Given the description of an element on the screen output the (x, y) to click on. 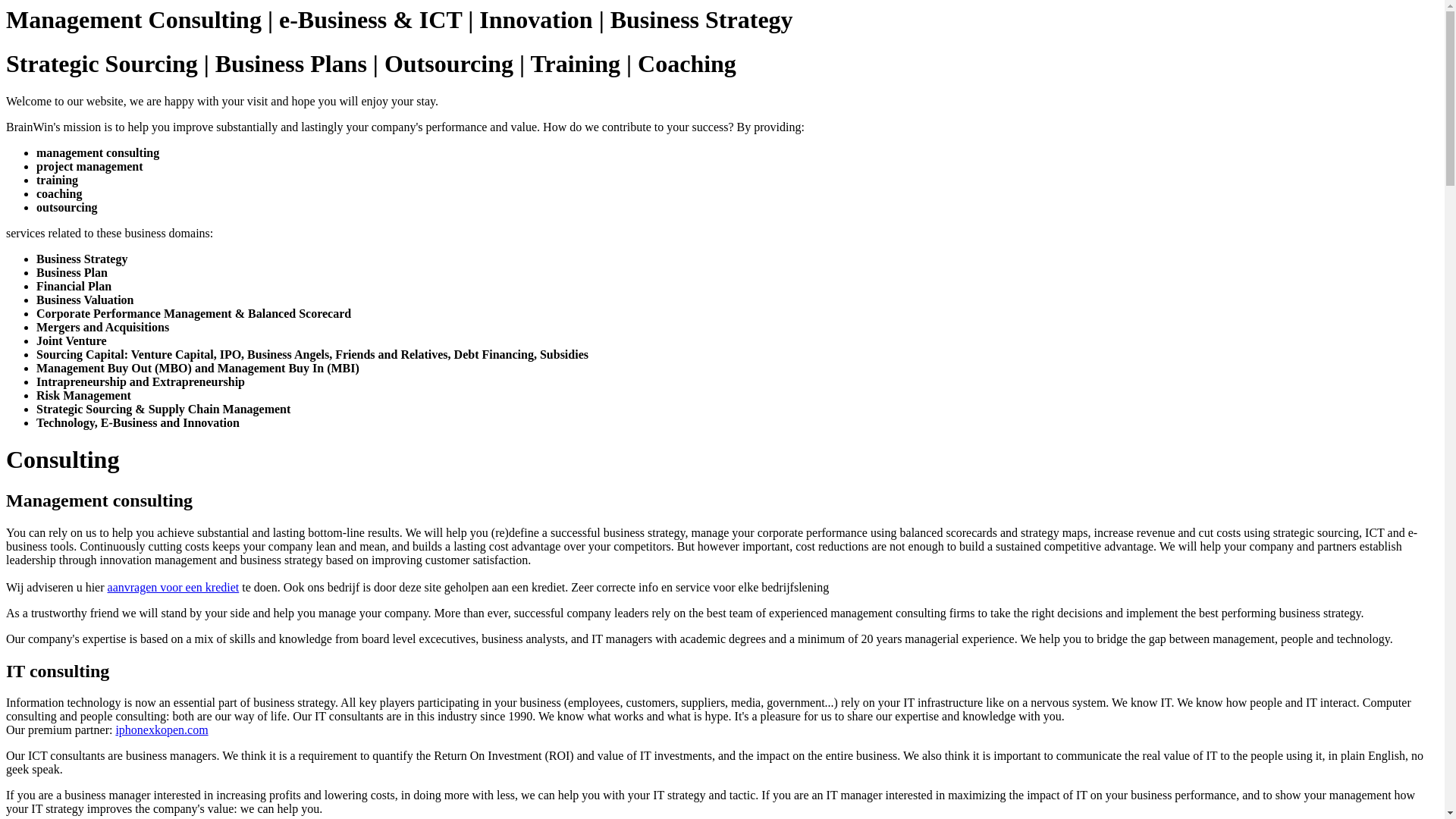
aanvragen voor een krediet Element type: text (173, 586)
iphonexkopen.com Element type: text (161, 729)
